Given the description of an element on the screen output the (x, y) to click on. 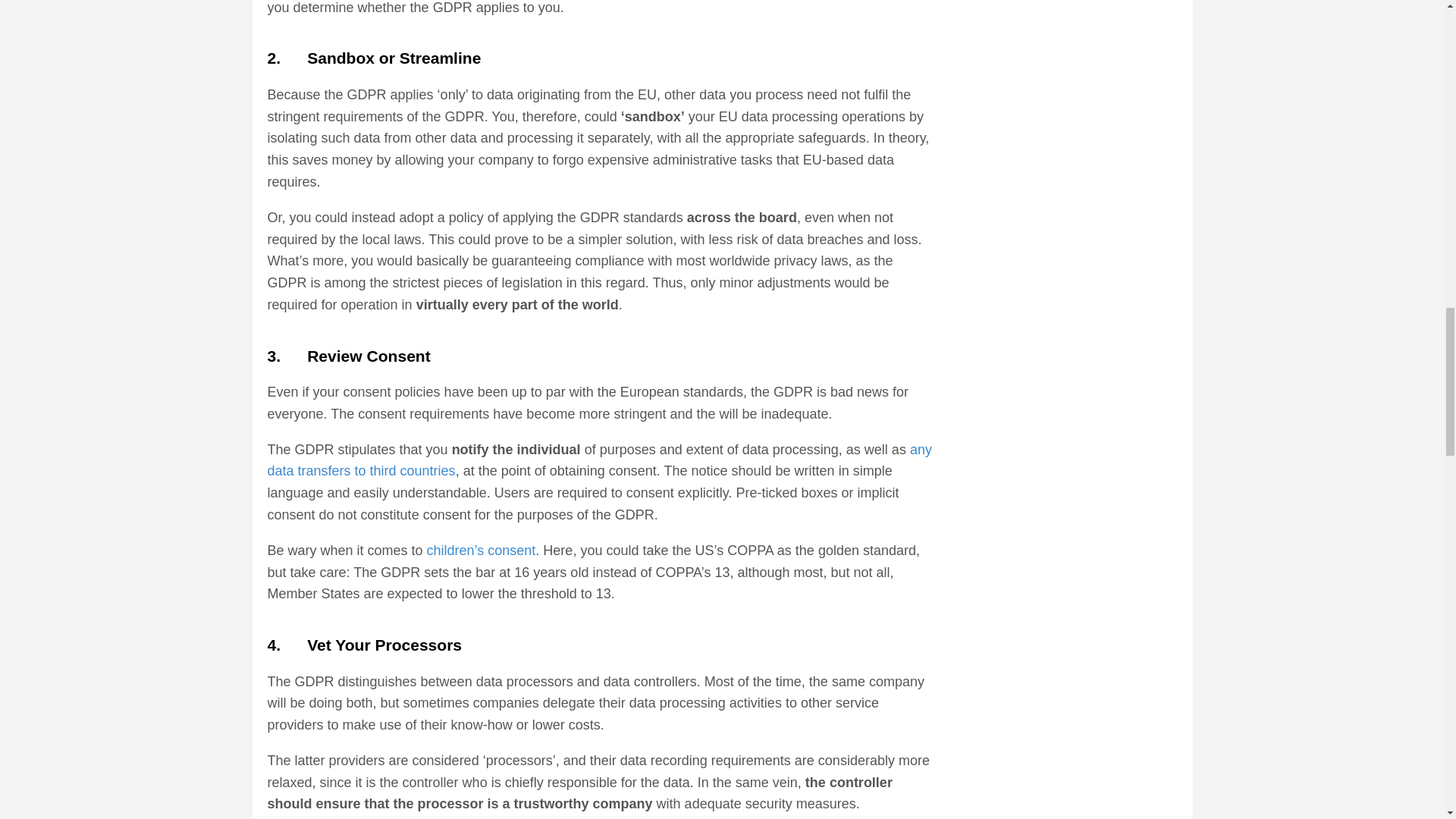
any data transfers to third countries (598, 460)
